Given the description of an element on the screen output the (x, y) to click on. 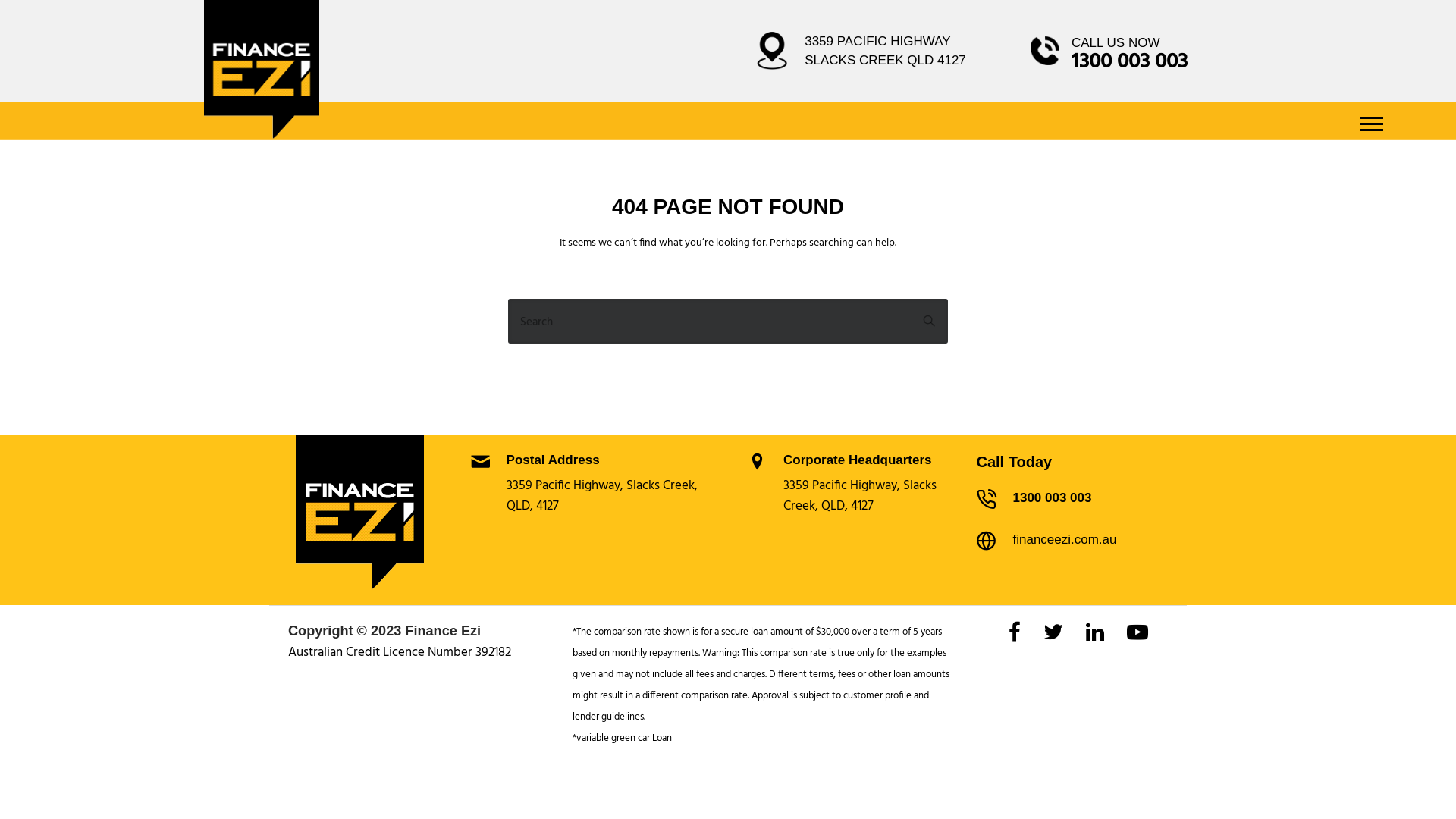
SLACKS CREEK QLD 4127 Element type: text (885, 60)
CALL US NOW Element type: text (1115, 42)
financeezi.com.au Element type: text (1064, 539)
fe-logo Element type: hover (261, 69)
3359 PACIFIC HIGHWAY Element type: text (877, 41)
3359 Pacific Highway, Slacks Creek, QLD, 4127 Element type: text (859, 495)
Corporate Headquarters Element type: text (857, 459)
fe-logo Element type: hover (359, 512)
1300 003 003 Element type: text (1129, 61)
1300 003 003 Element type: text (1051, 497)
3359 Pacific Highway, Slacks Creek, QLD, 4127 Element type: text (601, 495)
